Given the description of an element on the screen output the (x, y) to click on. 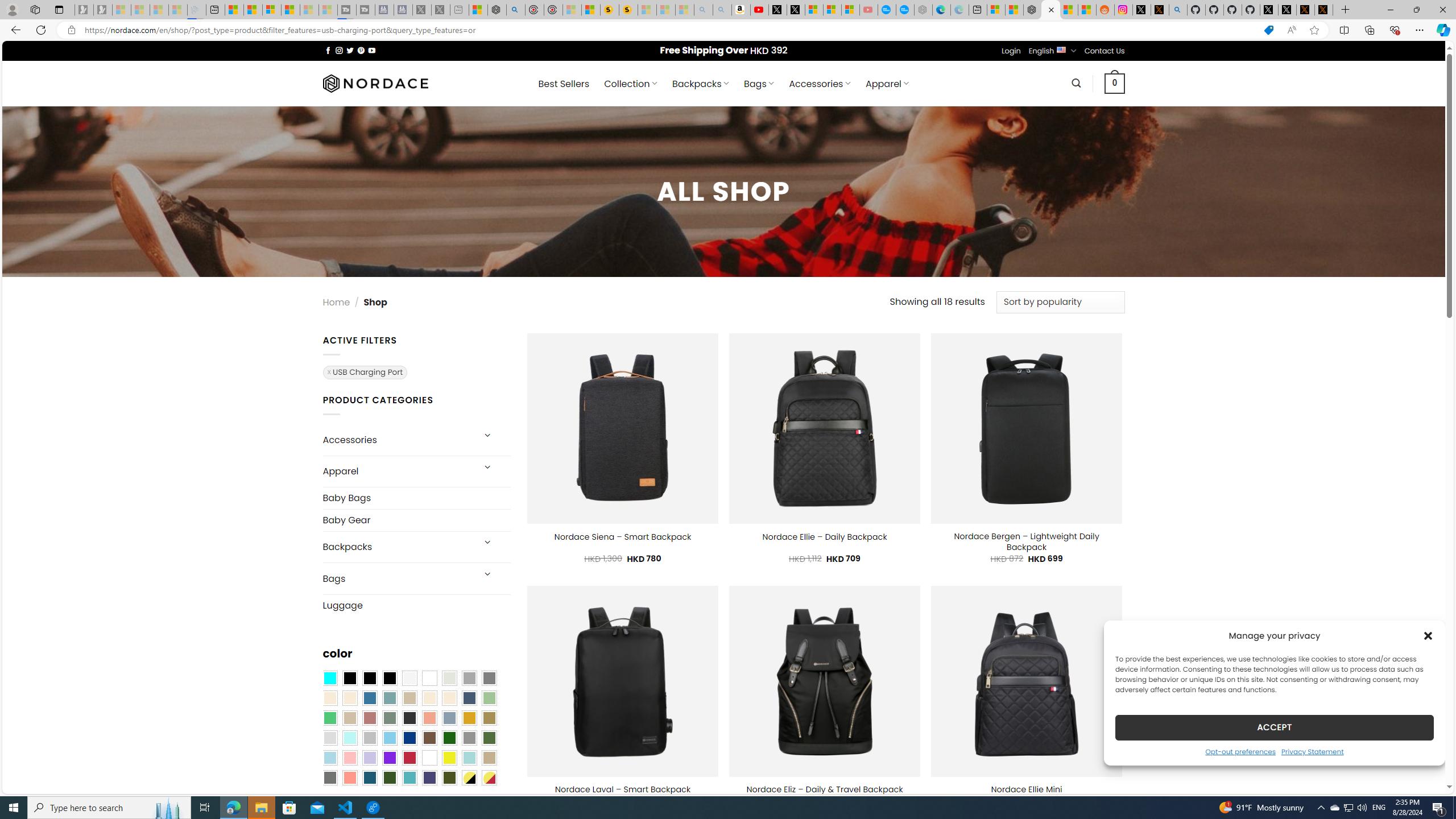
poe - Search (515, 9)
Blue (369, 698)
Ash Gray (449, 678)
Overview (271, 9)
Opinion: Op-Ed and Commentary - USA TODAY (887, 9)
Army Green (449, 777)
X Privacy Policy (1324, 9)
White (429, 758)
Clear (429, 678)
Remove filter (364, 372)
Light Gray (329, 737)
All Black (349, 678)
Khaki (488, 758)
github - Search (1178, 9)
